Given the description of an element on the screen output the (x, y) to click on. 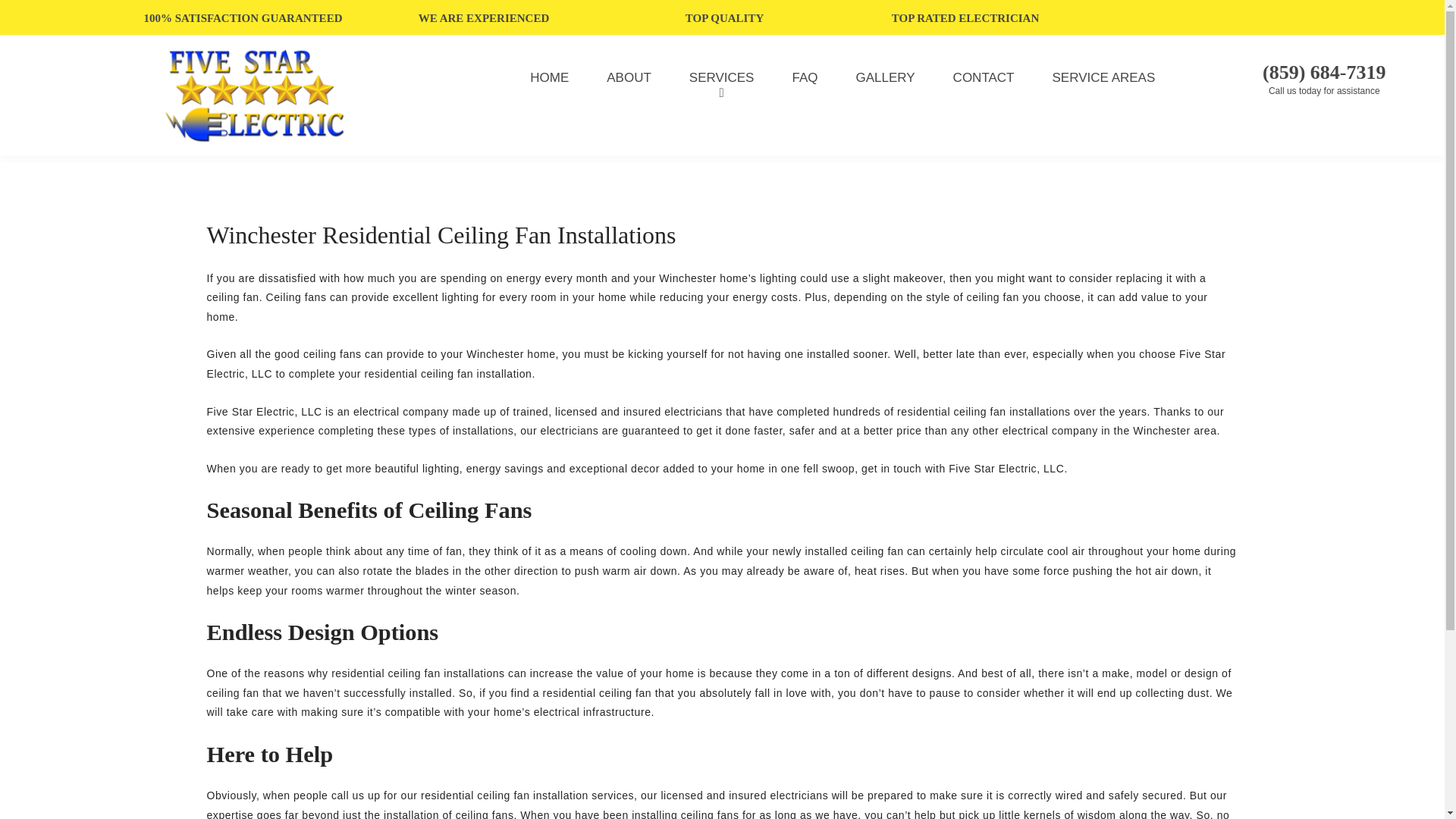
HOME (548, 77)
Five Star Electric, LLC Logo (253, 94)
ABOUT (628, 77)
SERVICES (721, 77)
SERVICE AREAS (1104, 77)
FAQ (804, 77)
GALLERY (885, 77)
Google Maps (1333, 16)
CONTACT (984, 77)
Connect with Facebook (1313, 16)
